Given the description of an element on the screen output the (x, y) to click on. 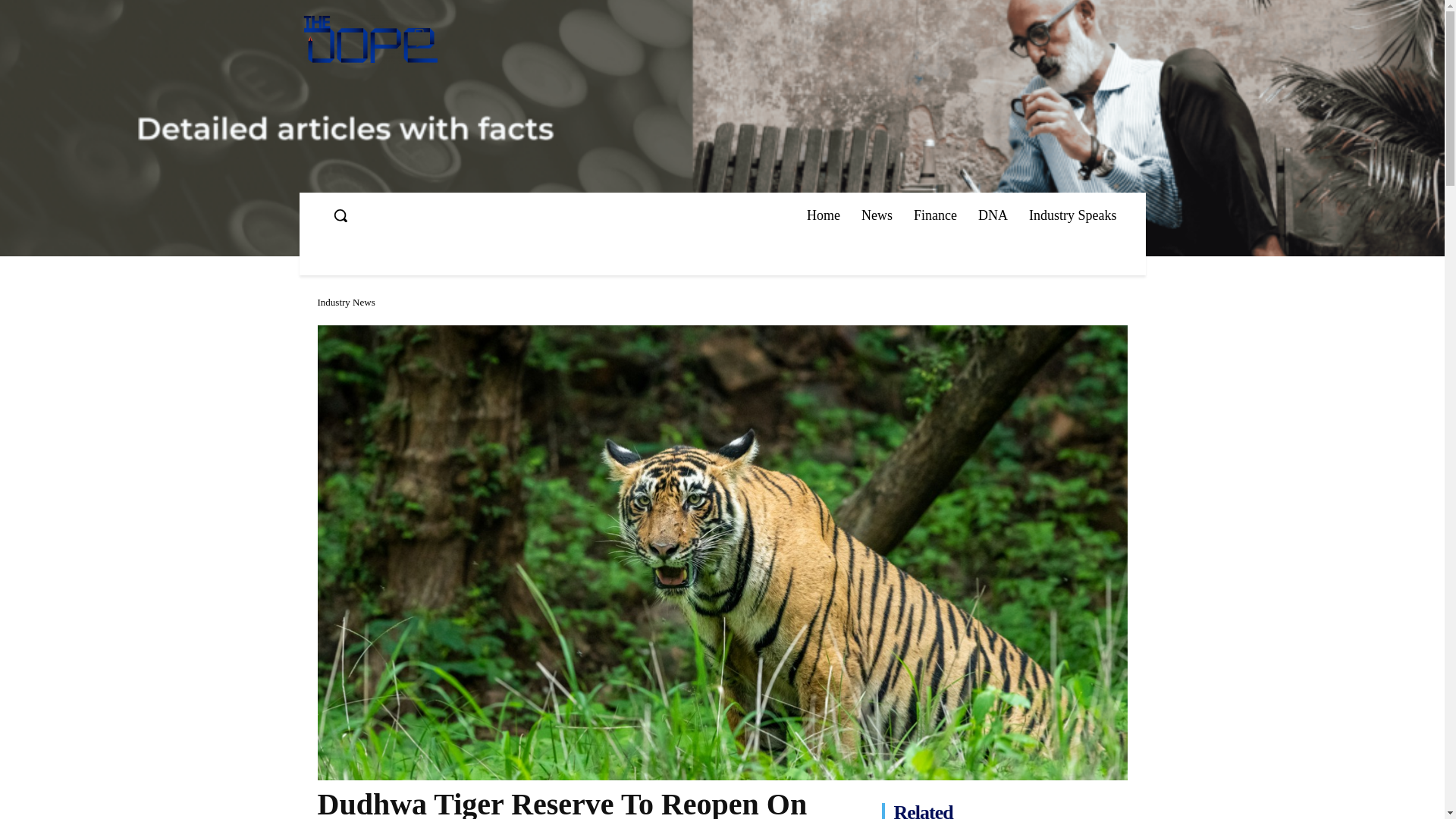
Home (823, 215)
News (876, 215)
Industry News (345, 302)
Industry Speaks (1071, 215)
DNA (992, 215)
Finance (935, 215)
